Given the description of an element on the screen output the (x, y) to click on. 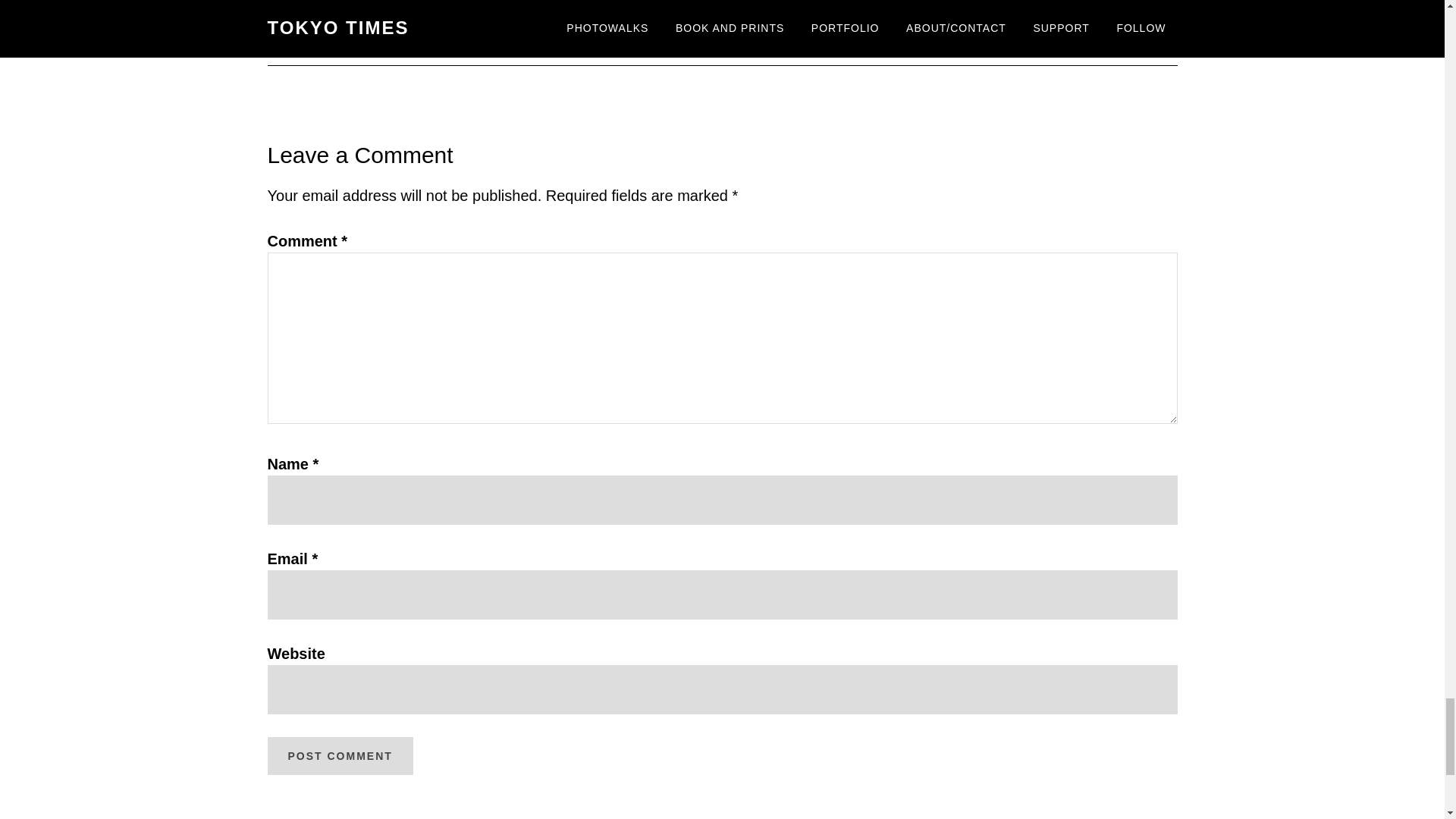
Post Comment (339, 755)
